Given the description of an element on the screen output the (x, y) to click on. 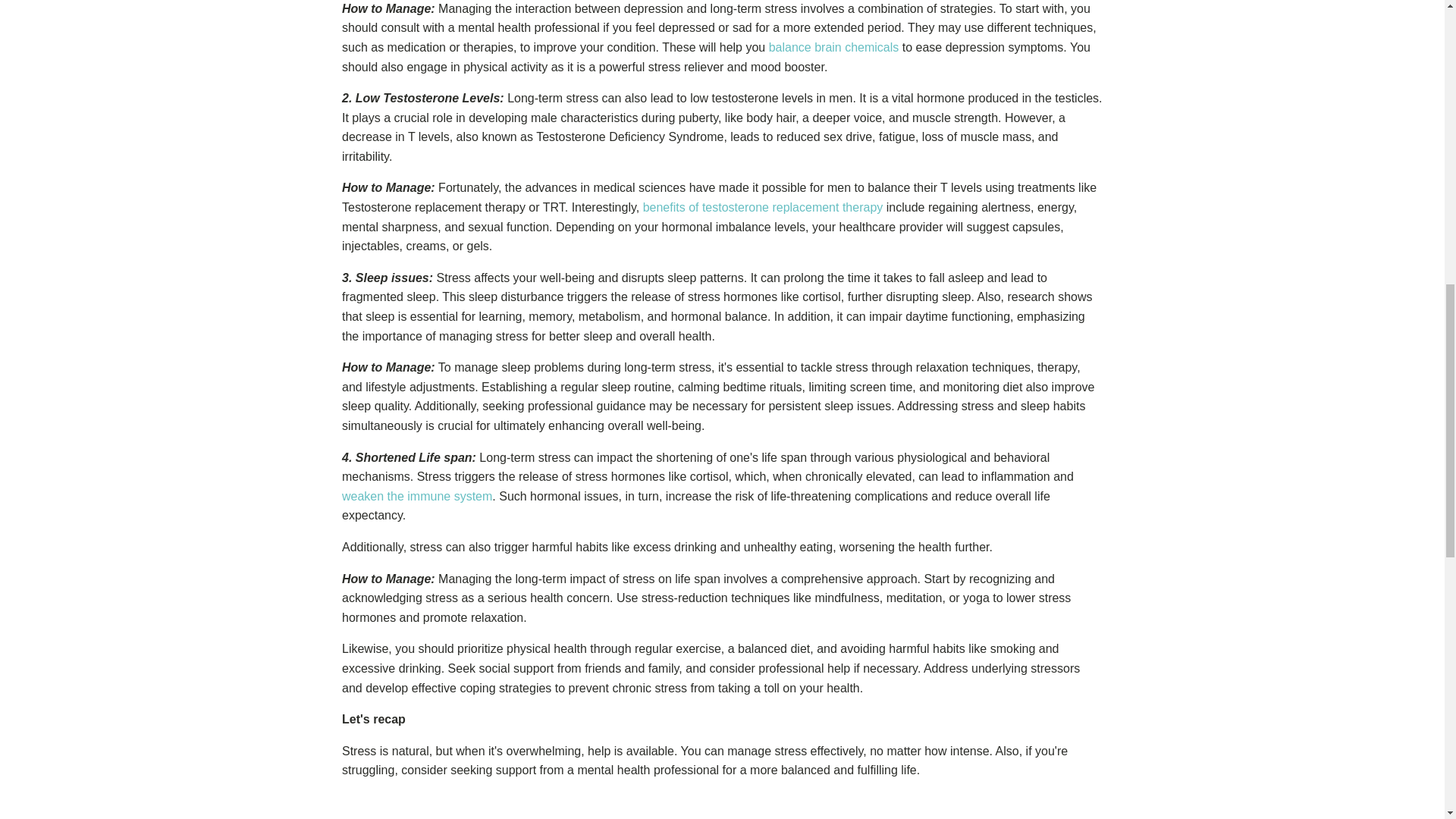
weaken the immune system (417, 495)
balance brain chemicals (833, 47)
benefits of testosterone replacement therapy (763, 206)
